Given the description of an element on the screen output the (x, y) to click on. 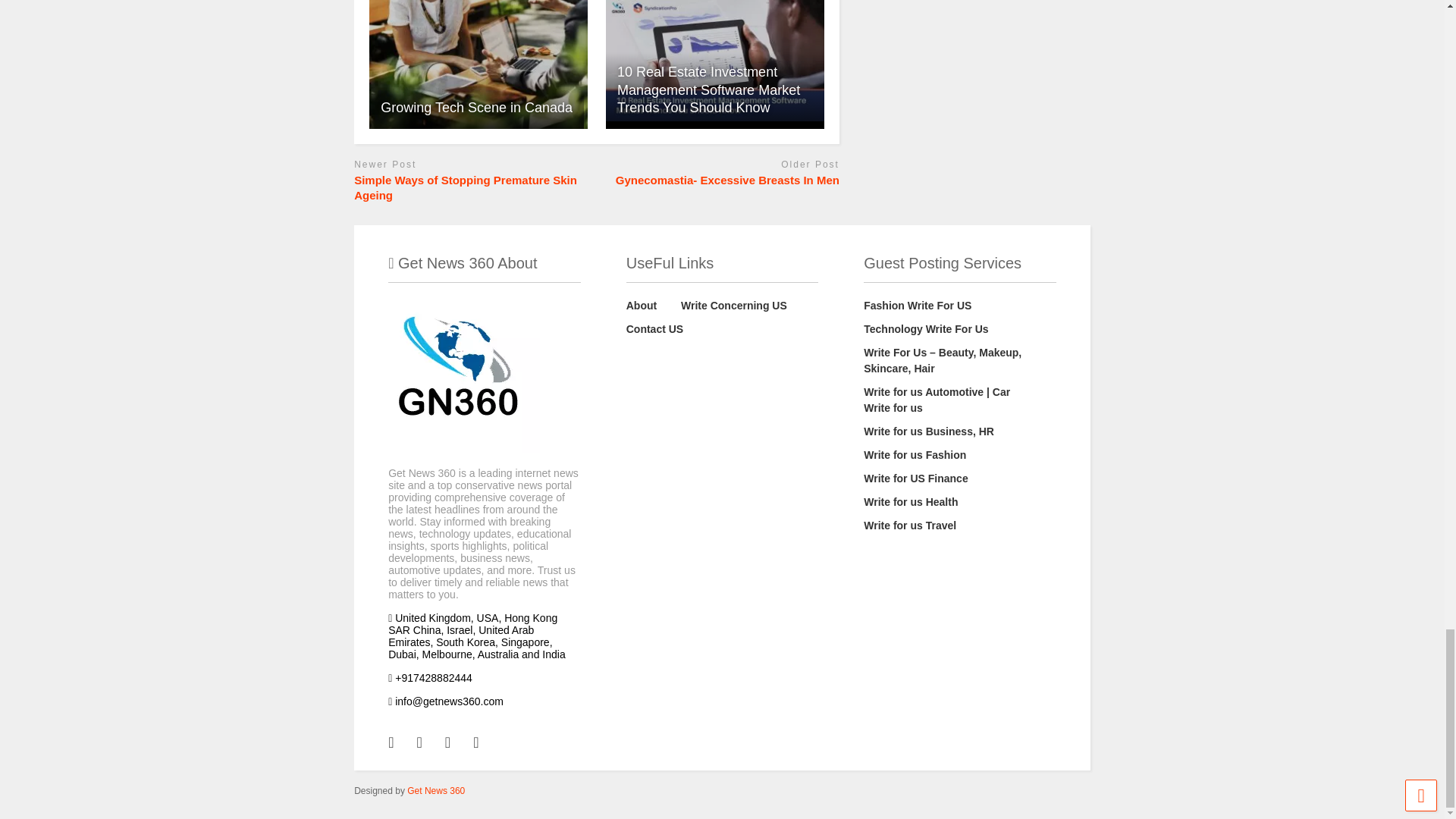
Simple Ways of Stopping Premature Skin Ageing (471, 187)
Gynecomastia- Excessive Breasts In Men (722, 180)
Growing Tech Scene in Canada (478, 64)
Click to read (478, 64)
Click to read (714, 64)
Growing Tech Scene in Canada (476, 107)
